Given the description of an element on the screen output the (x, y) to click on. 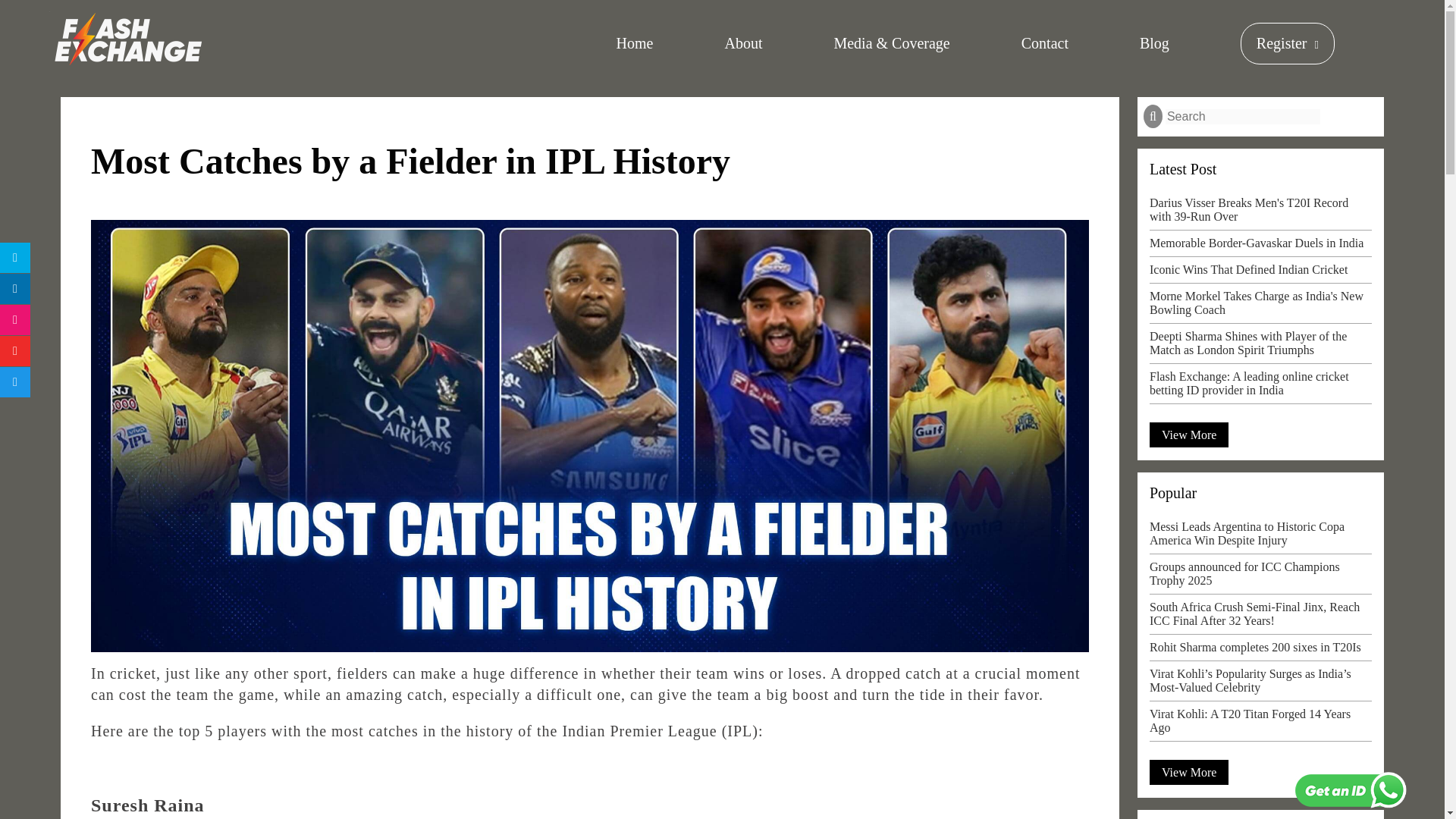
About (742, 43)
View More (1189, 434)
Memorable Border-Gavaskar Duels in India (1260, 246)
Darius Visser Breaks Men's T20I Record with 39-Run Over (1260, 213)
Blog (1154, 43)
Morne Morkel Takes Charge as India's New Bowling Coach (1260, 306)
Groups announced for ICC Champions Trophy 2025 (1260, 577)
Rohit Sharma completes 200 sixes in T20Is (1260, 650)
Iconic Wins That Defined Indian Cricket (1260, 272)
